Given the description of an element on the screen output the (x, y) to click on. 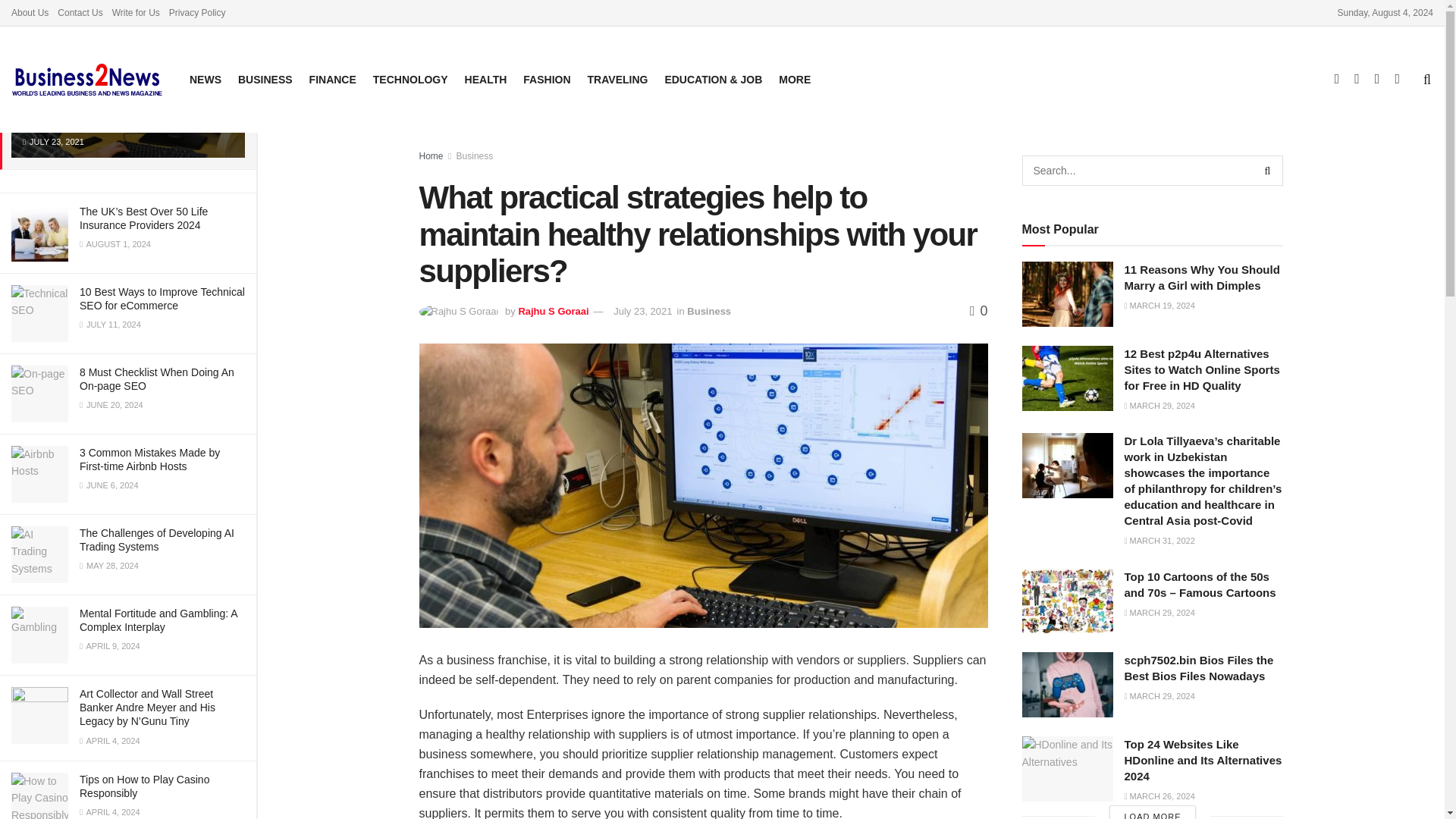
BUSINESS (265, 79)
10 Best Ways to Improve Technical SEO for eCommerce (162, 298)
3 Common Mistakes Made by First-time Airbnb Hosts (149, 459)
Privacy Policy (196, 12)
Tips on How to Play Casino Responsibly (144, 786)
The Challenges of Developing AI Trading Systems (157, 539)
Contact Us (79, 12)
TECHNOLOGY (410, 79)
Write for Us (136, 12)
NEWS (205, 79)
8 Must Checklist When Doing An On-page SEO (157, 379)
Mental Fortitude and Gambling: A Complex Interplay (158, 620)
About Us (29, 12)
FINANCE (332, 79)
